Given the description of an element on the screen output the (x, y) to click on. 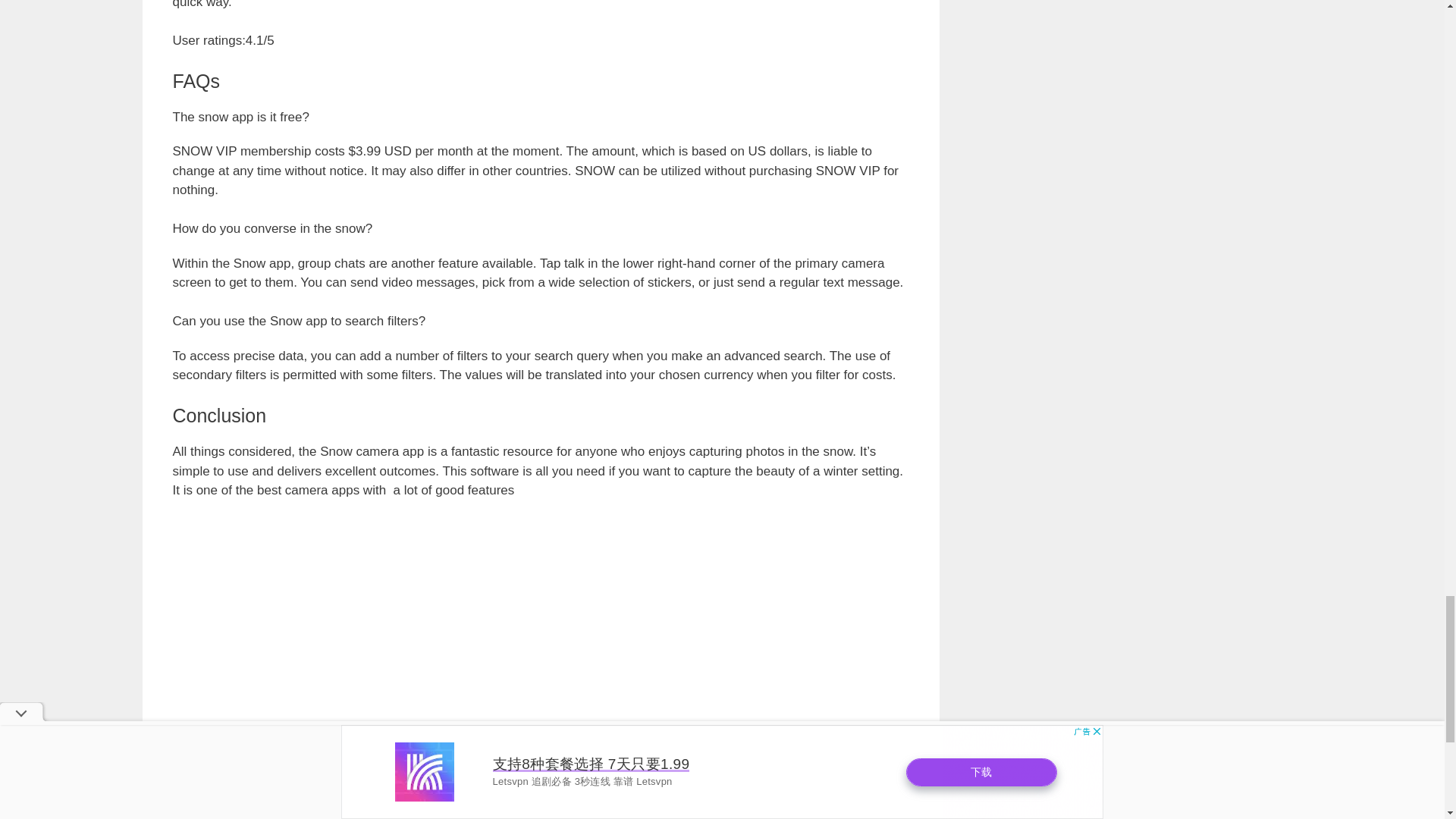
Apps (202, 761)
photo editor (218, 777)
